Given the description of an element on the screen output the (x, y) to click on. 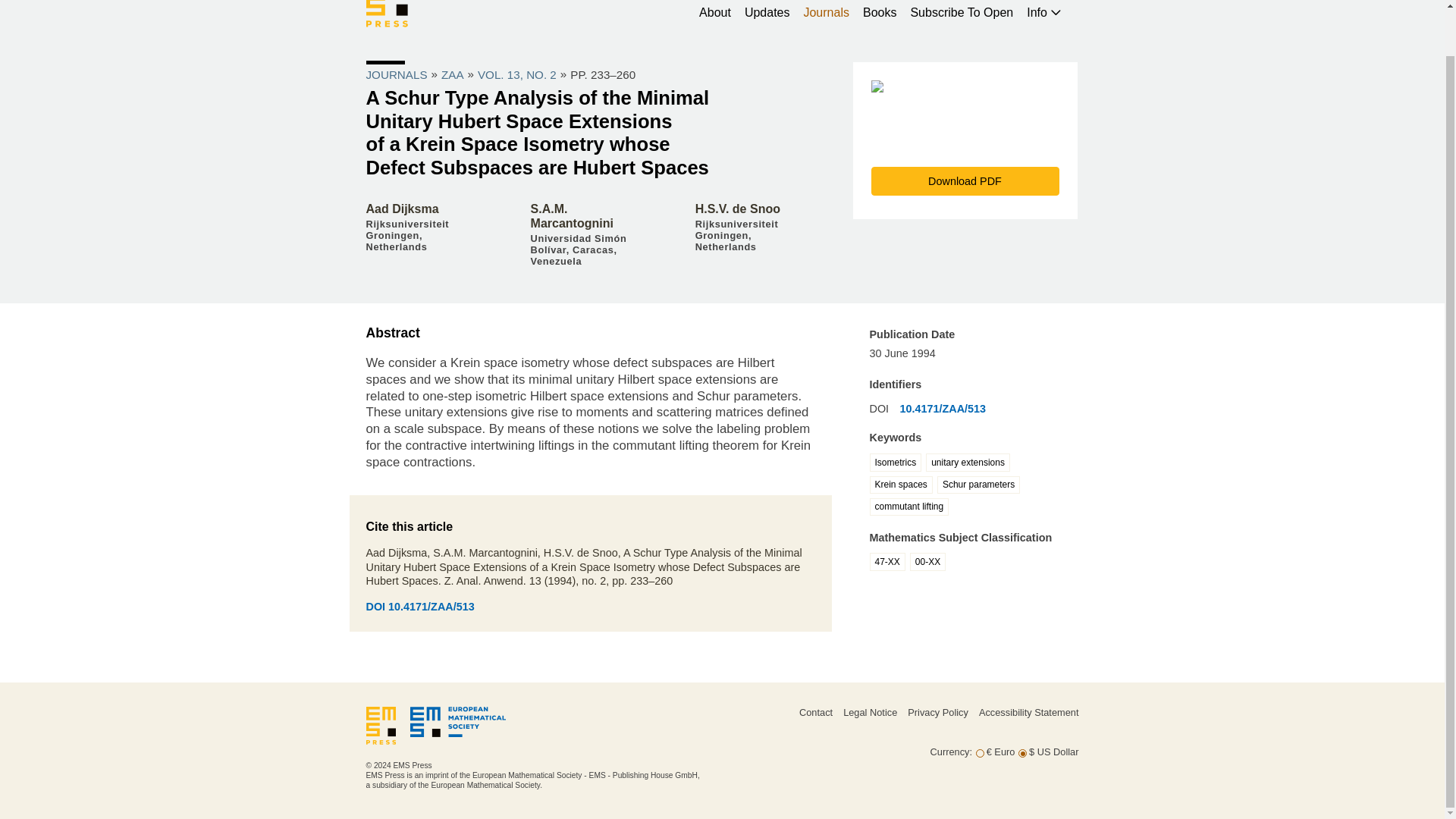
About (714, 12)
USD (1021, 753)
Subscribe To Open (961, 12)
Updates (767, 12)
Books (879, 12)
Footer Navigation (889, 726)
Main Navigation (721, 22)
Privacy Policy (937, 712)
ZAA (452, 74)
Legal Notice (869, 712)
